Given the description of an element on the screen output the (x, y) to click on. 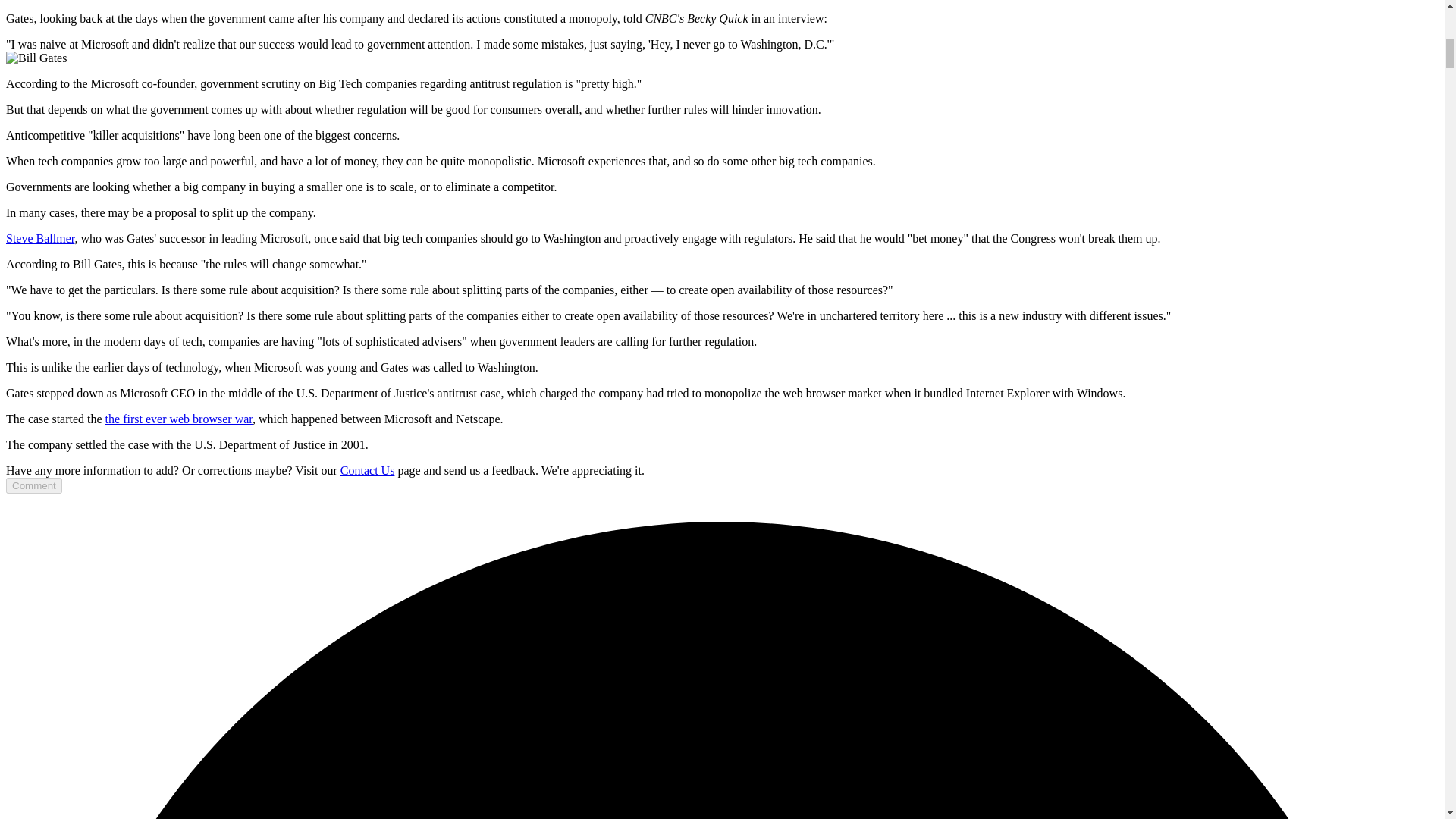
Contact Us (367, 470)
the first ever web browser war (177, 418)
Comment (33, 485)
Steve Ballmer (39, 237)
